Given the description of an element on the screen output the (x, y) to click on. 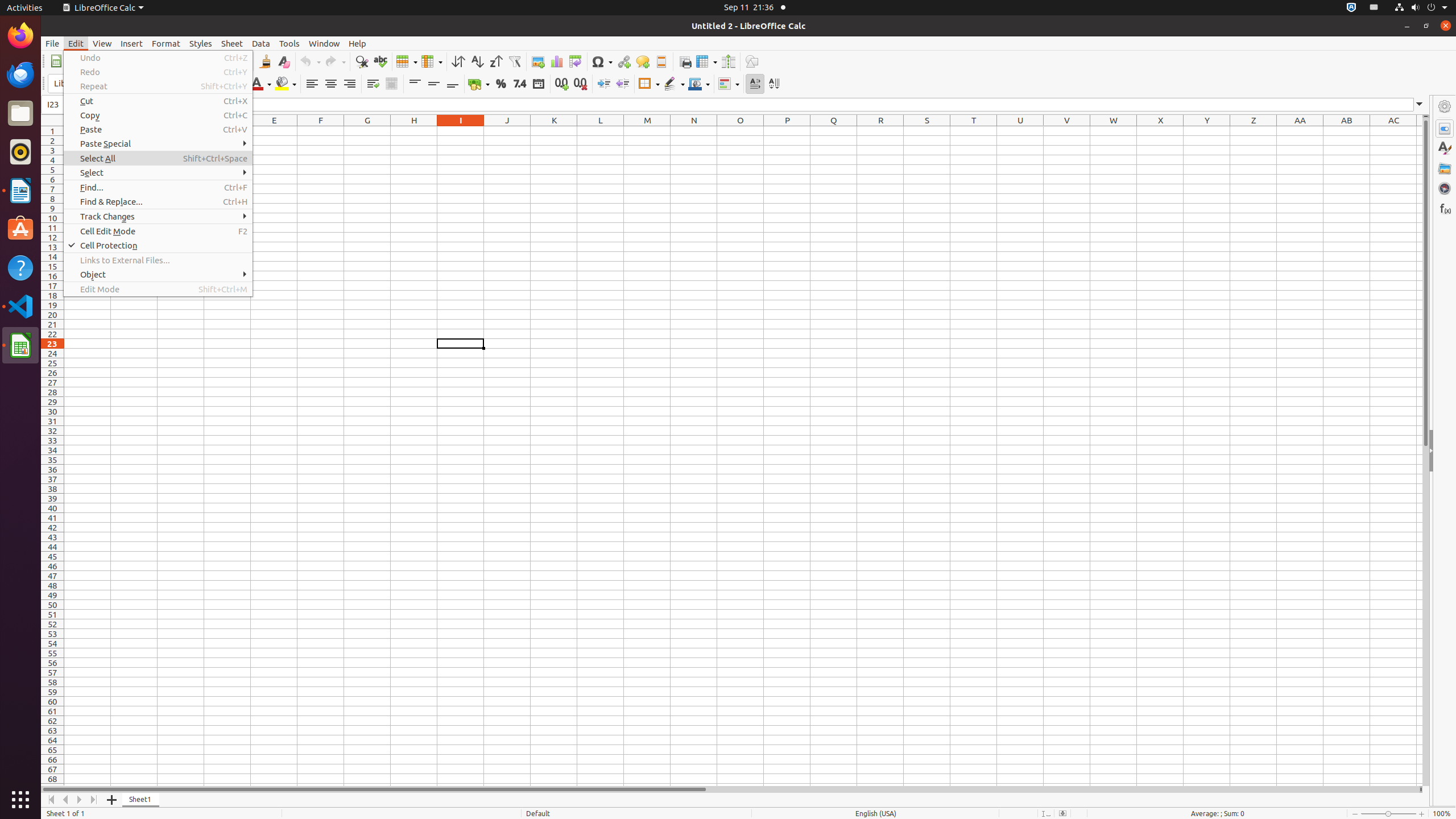
Data Element type: menu (260, 43)
Draw Functions Element type: toggle-button (751, 61)
Links to External Files... Element type: menu-item (157, 260)
Z1 Element type: table-cell (1253, 130)
Merge and Center Cells Element type: push-button (391, 83)
